Given the description of an element on the screen output the (x, y) to click on. 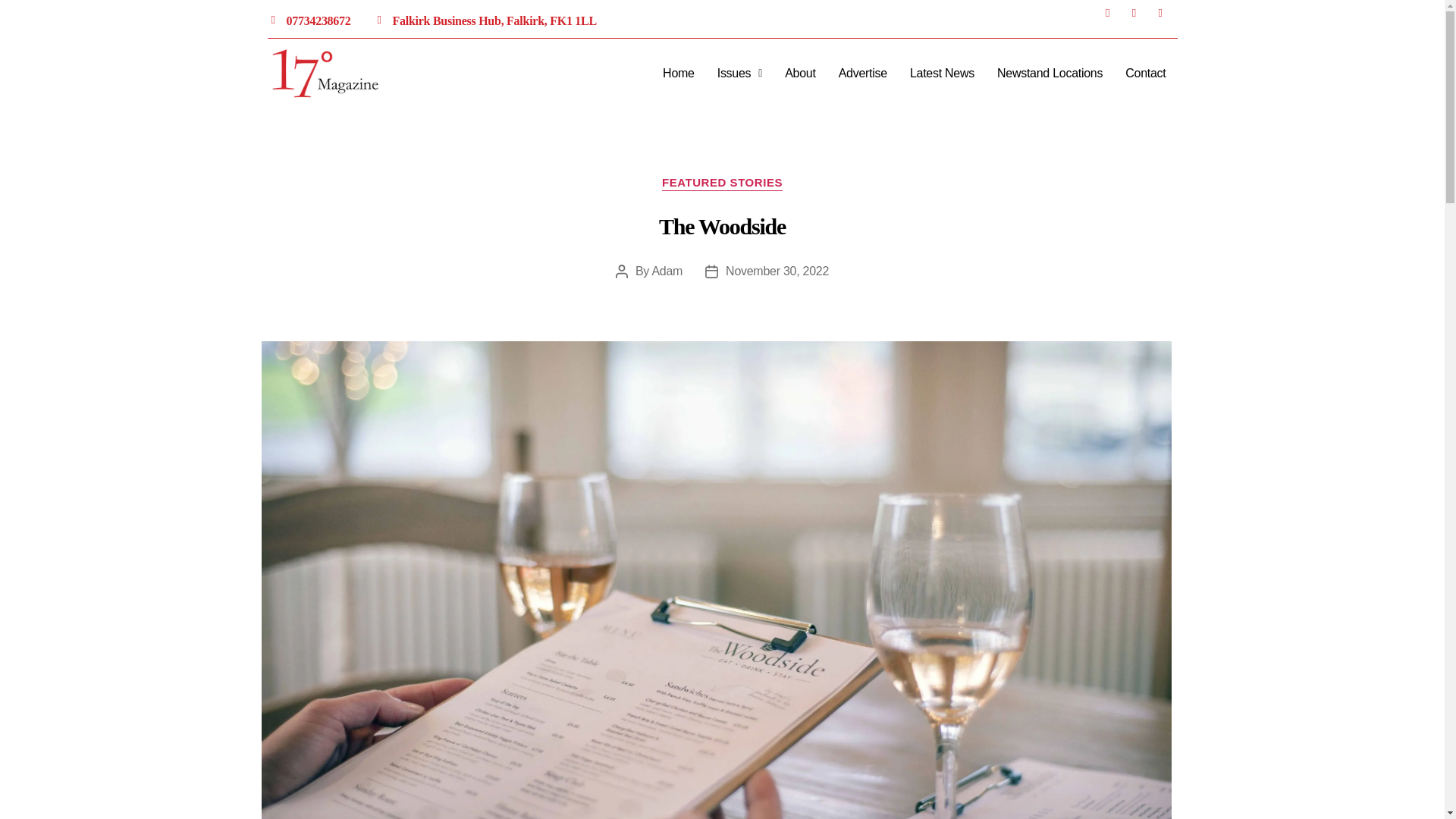
FEATURED STORIES (722, 183)
Adam (666, 270)
Advertise (862, 73)
Latest News (941, 73)
Newstand Locations (1049, 73)
November 30, 2022 (776, 270)
Home (678, 73)
About (800, 73)
Issues (739, 73)
Contact (1144, 73)
